Given the description of an element on the screen output the (x, y) to click on. 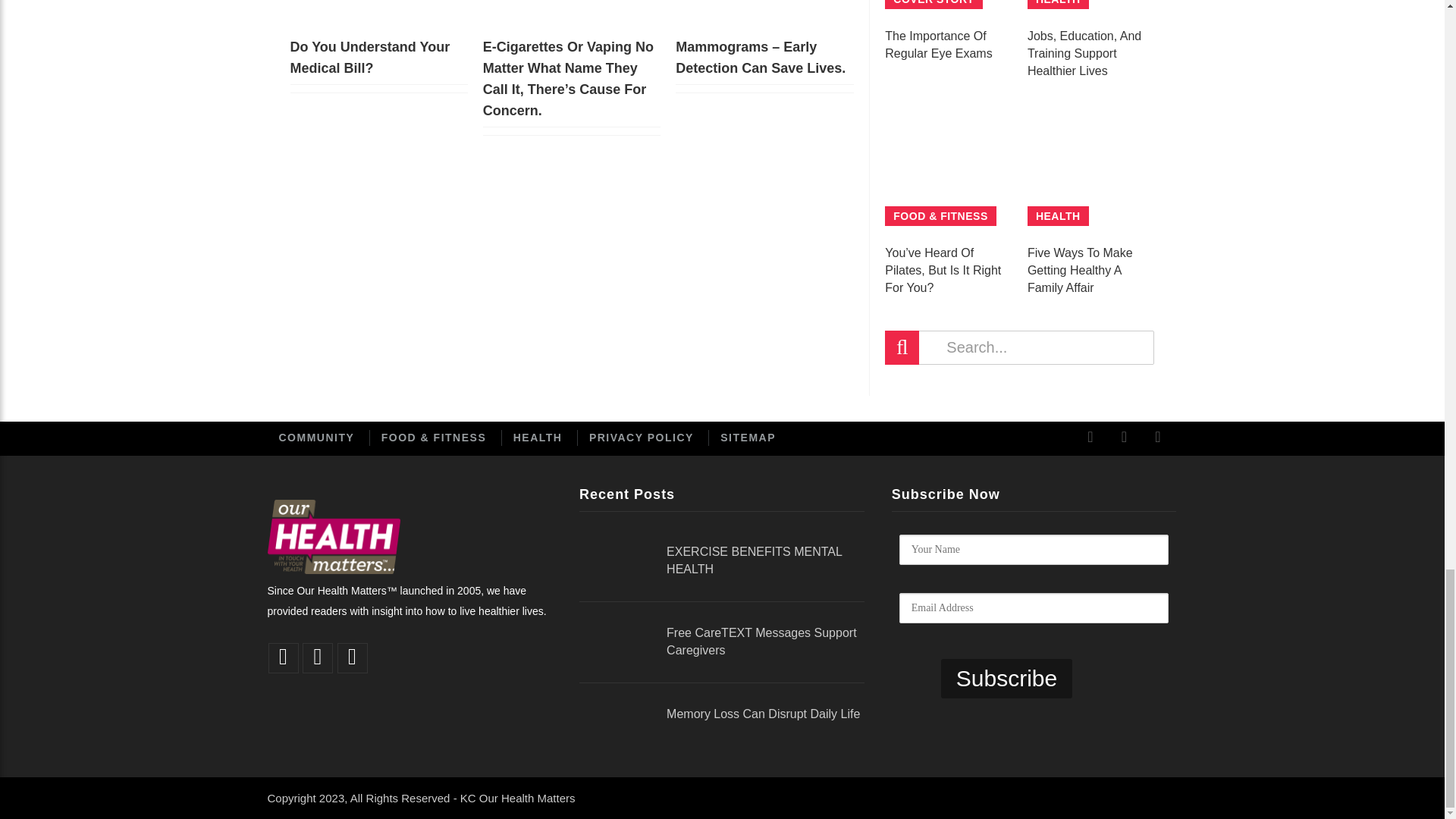
subscribe (1005, 678)
Search... (1019, 347)
Search... (1019, 347)
